Given the description of an element on the screen output the (x, y) to click on. 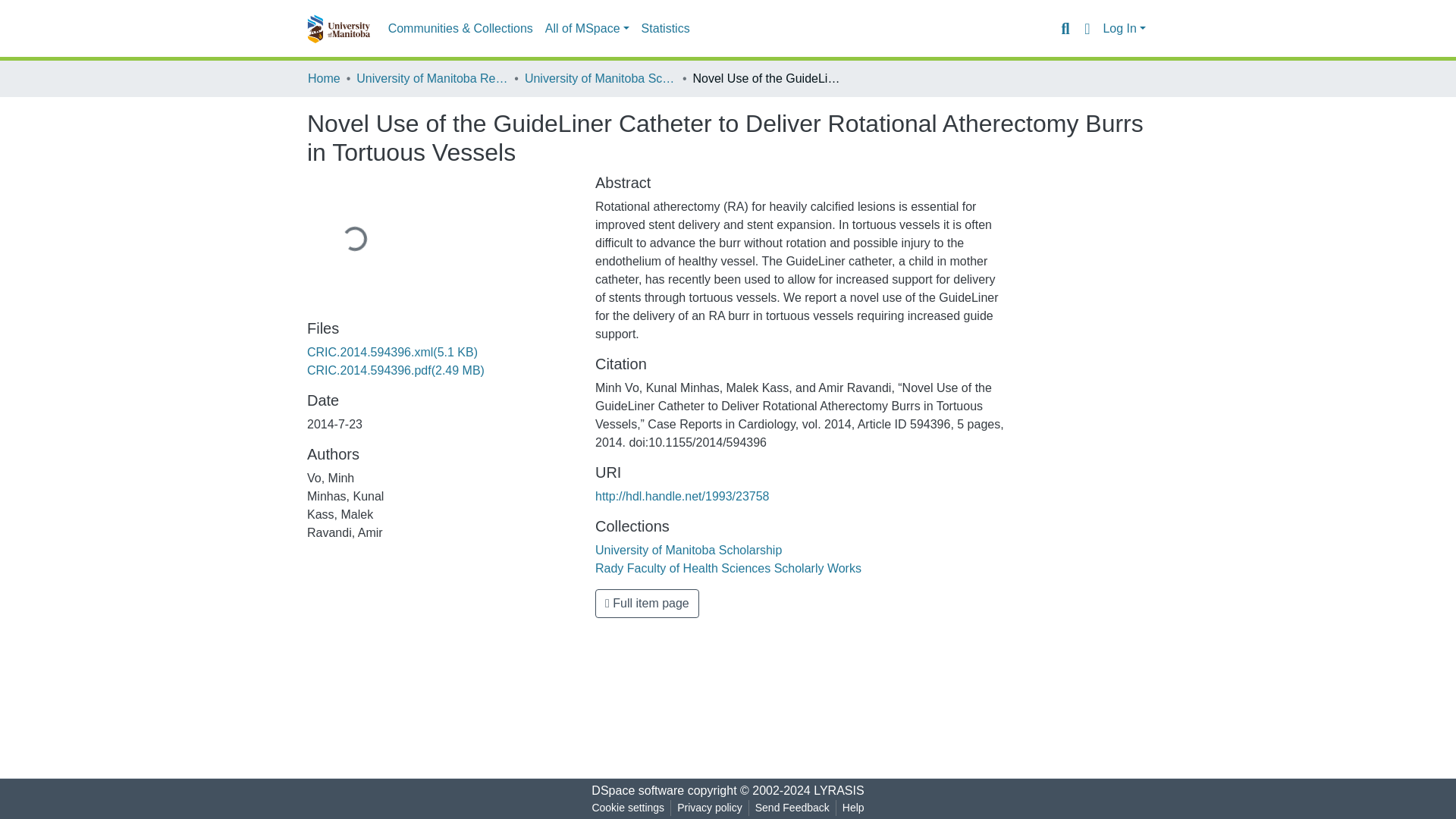
Log In (1123, 28)
All of MSpace (586, 28)
DSpace software (637, 789)
Search (1064, 28)
Language switch (1086, 28)
University of Manitoba Scholarship (688, 549)
University of Manitoba Researchers (432, 78)
Privacy policy (709, 807)
Home (323, 78)
Full item page (646, 603)
Help (852, 807)
University of Manitoba Scholarship (600, 78)
Statistics (664, 28)
Send Feedback (792, 807)
Cookie settings (627, 807)
